Given the description of an element on the screen output the (x, y) to click on. 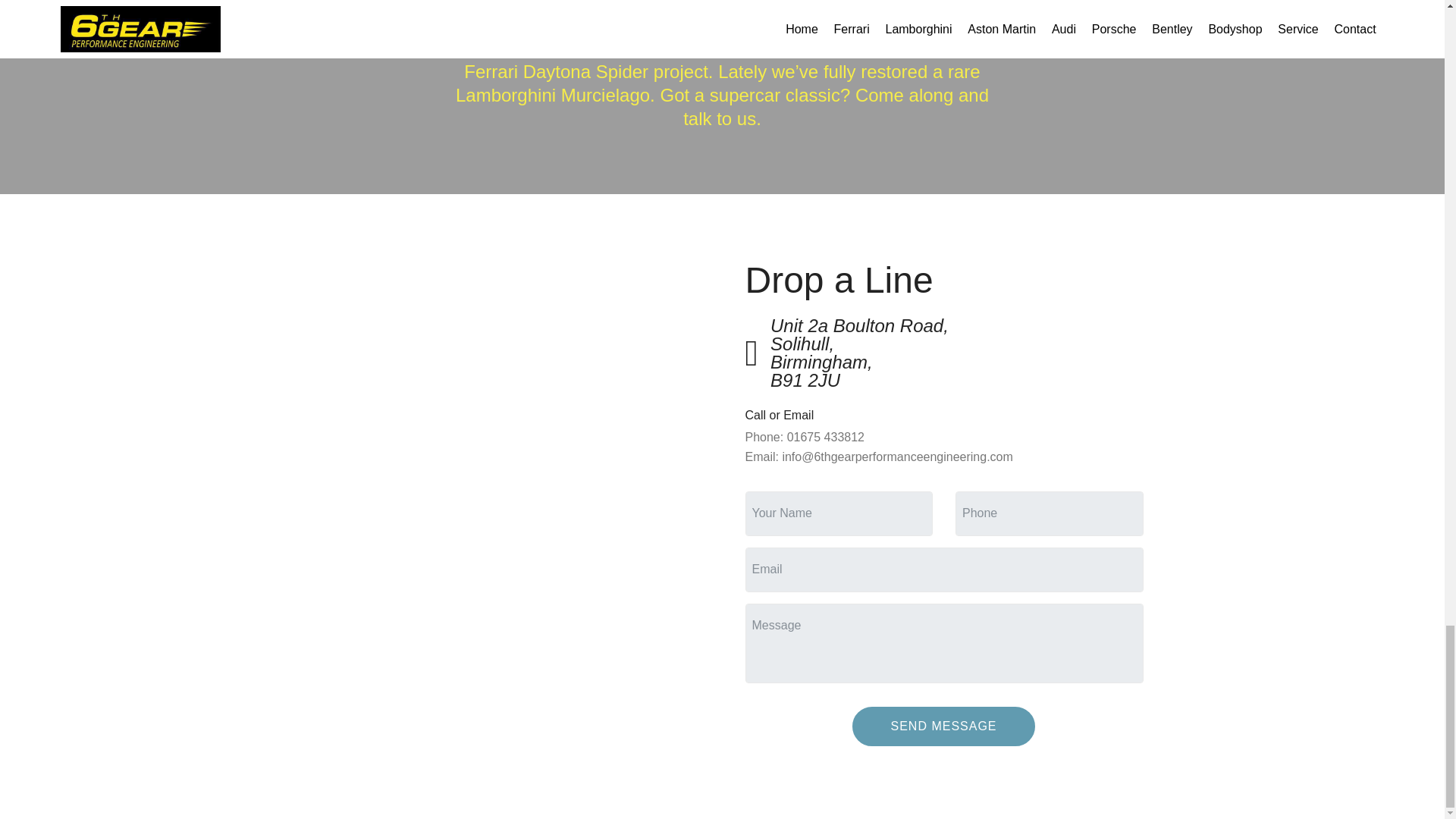
SEND MESSAGE (942, 726)
